Given the description of an element on the screen output the (x, y) to click on. 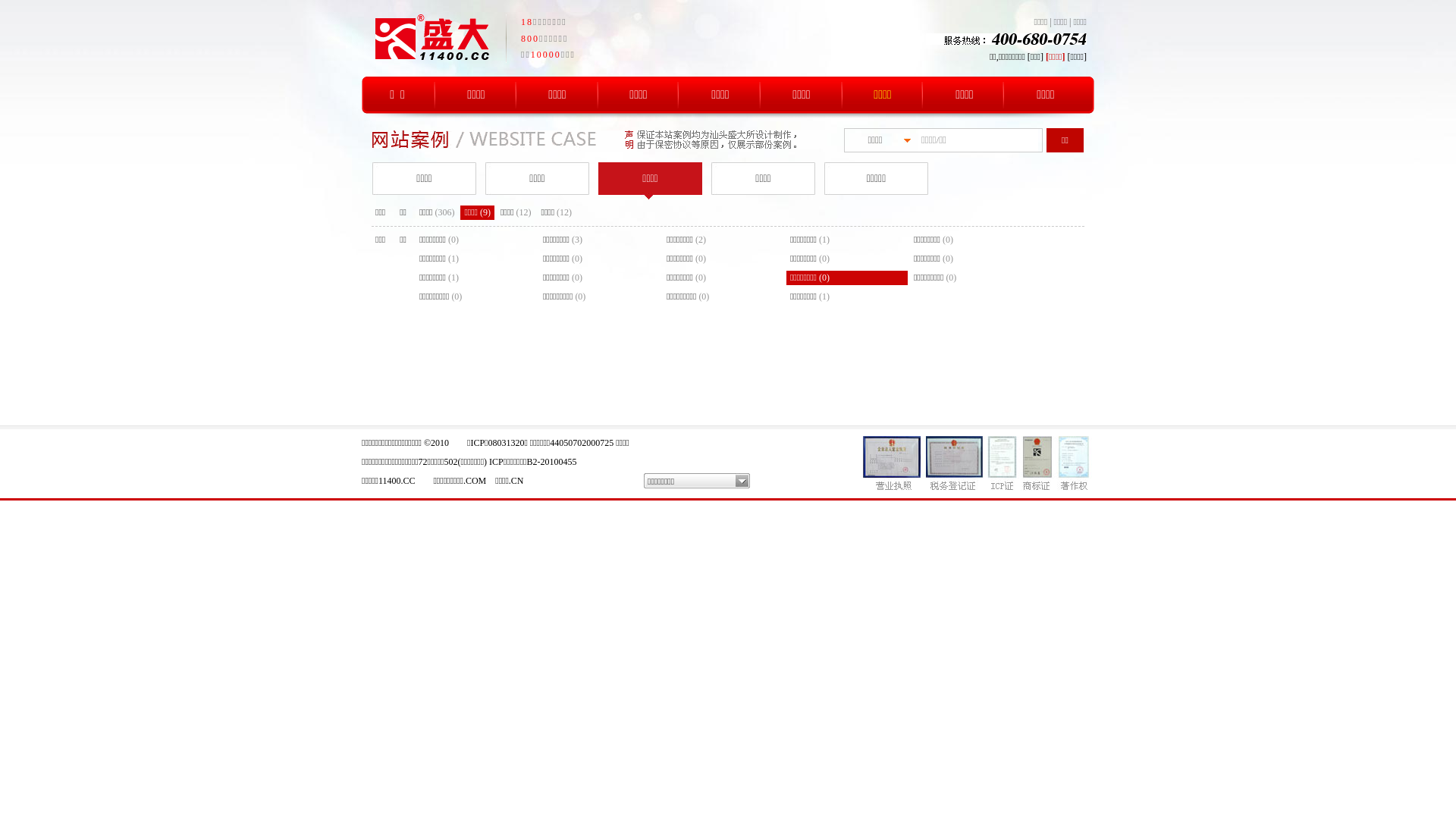
11400.CC Element type: text (396, 480)
